Given the description of an element on the screen output the (x, y) to click on. 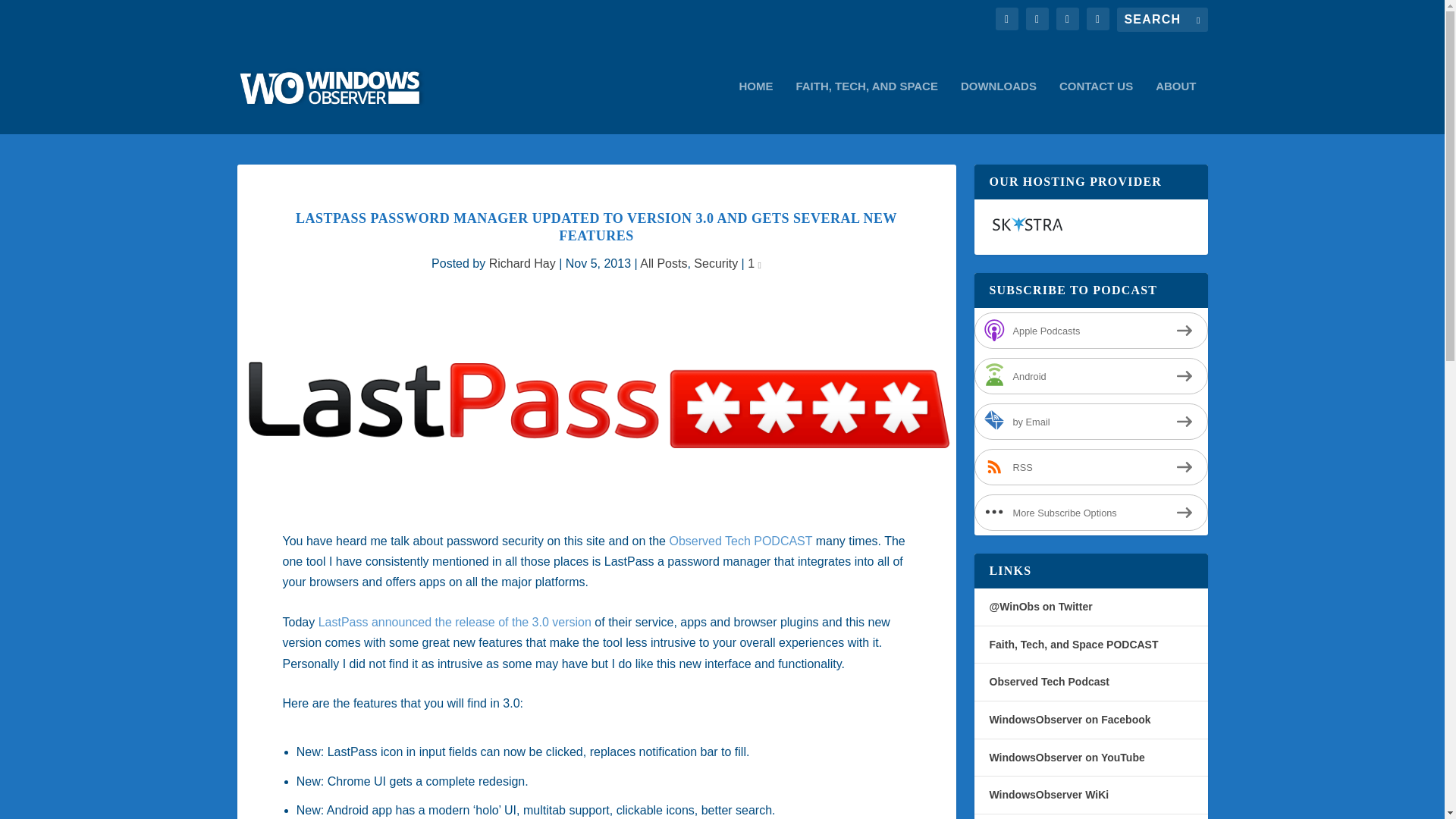
LastPass announced the release of the 3.0 version (454, 621)
Security (716, 263)
Richard Hay (522, 263)
FAITH, TECH, AND SPACE (865, 107)
Apple Podcasts (1090, 330)
Subscribe on Android (1090, 375)
DOWNLOADS (998, 107)
Search for: (1161, 19)
All Posts (663, 263)
1 (754, 263)
